Given the description of an element on the screen output the (x, y) to click on. 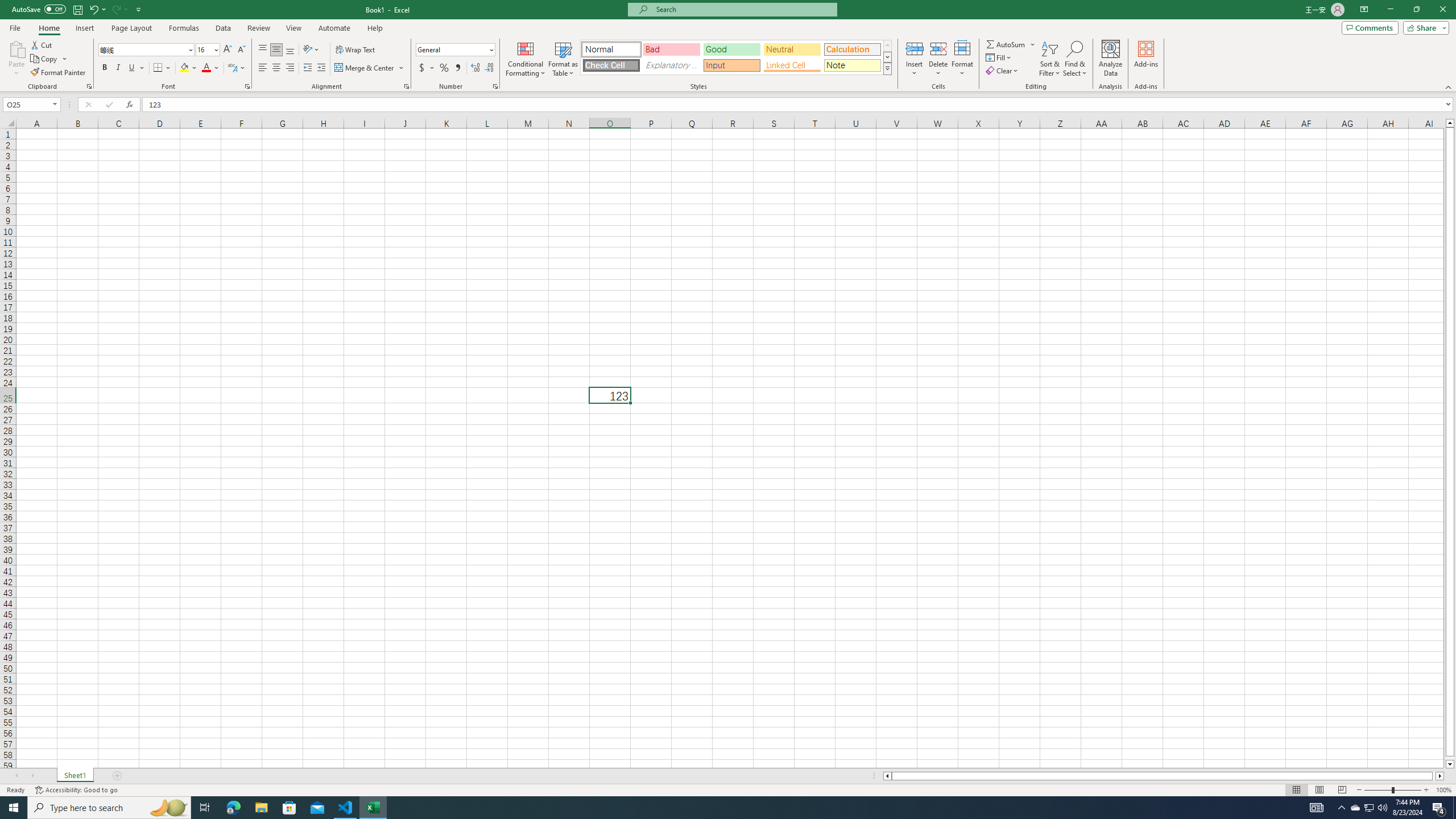
Format (962, 58)
Input (731, 65)
Sort & Filter (1049, 58)
Format Cell Alignment (405, 85)
Cut (42, 44)
Font Color RGB(255, 0, 0) (206, 67)
